Given the description of an element on the screen output the (x, y) to click on. 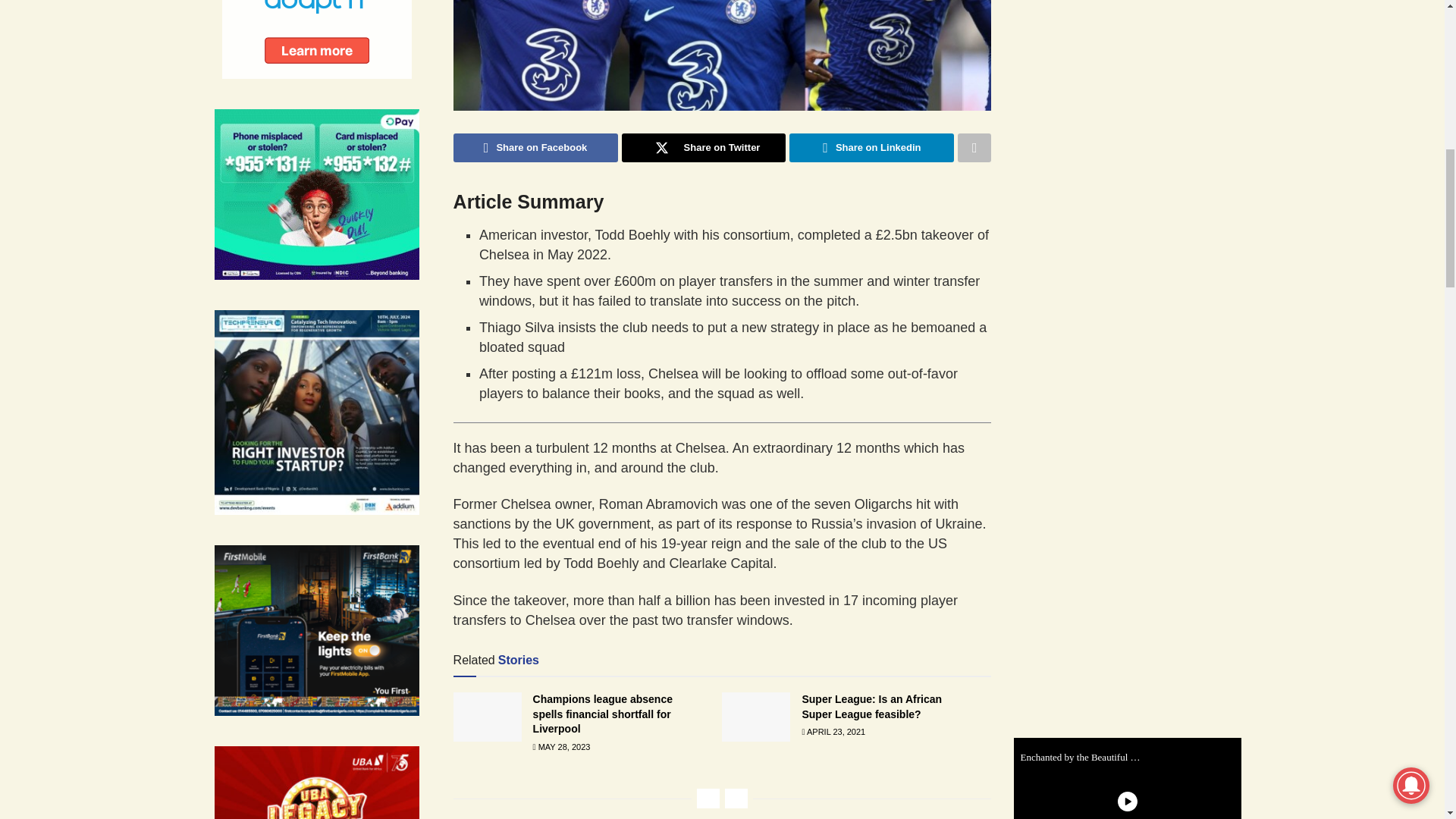
Next (736, 798)
Previous (708, 798)
Advertisement (1138, 61)
